Given the description of an element on the screen output the (x, y) to click on. 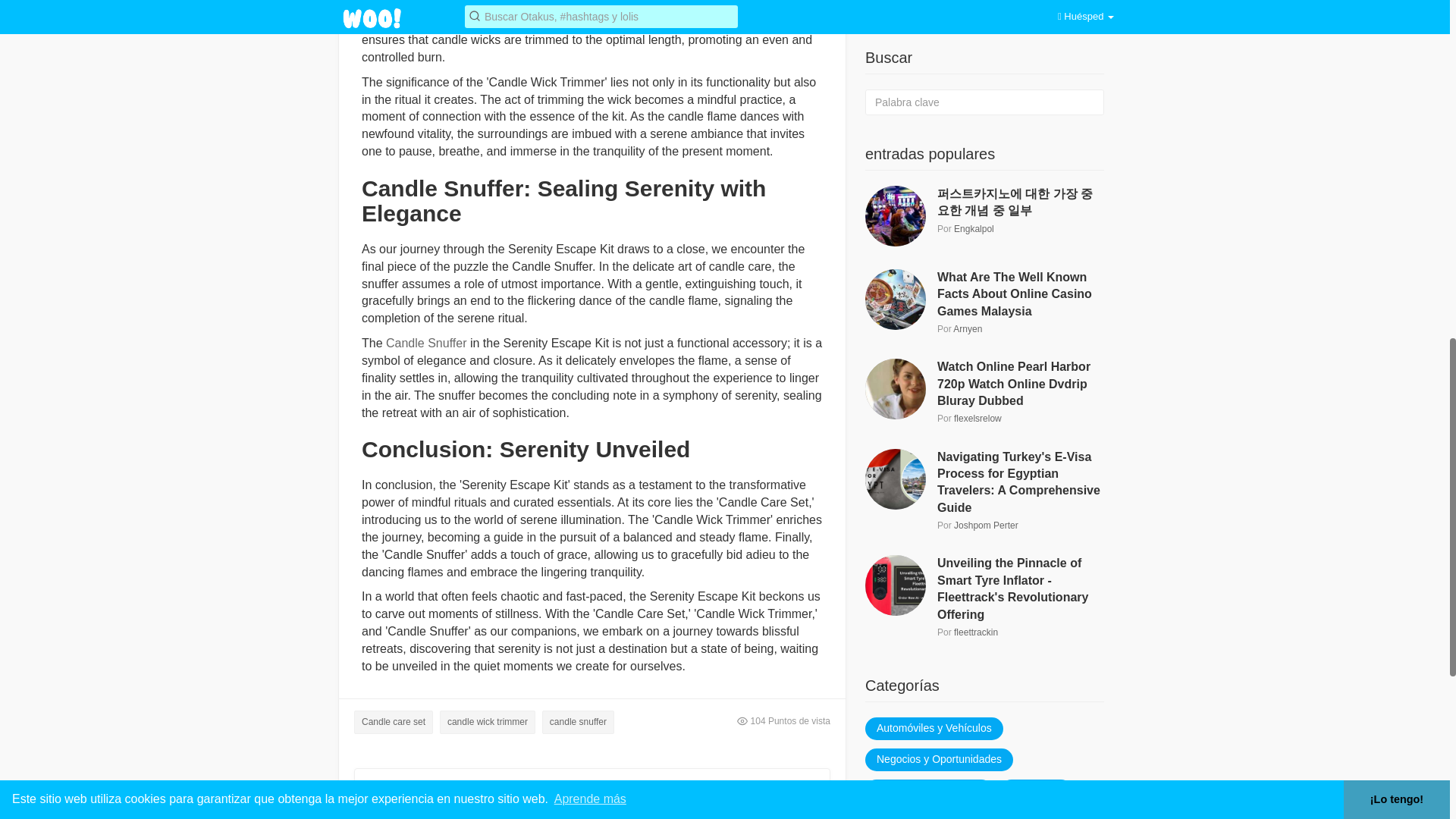
alexdsoza345 (487, 798)
candle wick trimmer (487, 721)
candle snuffer (577, 721)
Candle Snuffer (425, 342)
Candle care set (392, 721)
